Given the description of an element on the screen output the (x, y) to click on. 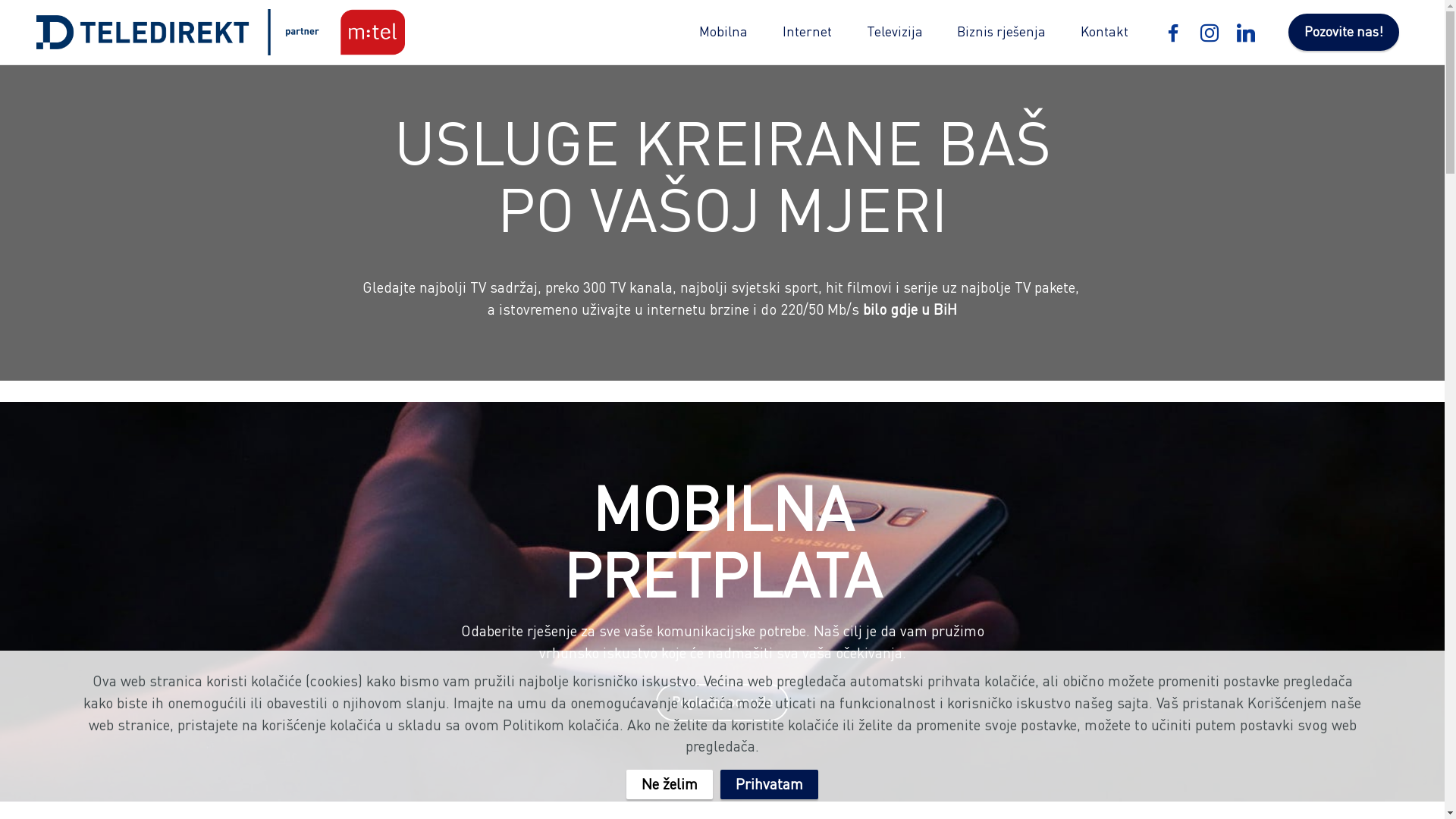
Kontakt Element type: text (1104, 31)
Mobilna Element type: text (723, 31)
Pogledaj ponude Element type: text (721, 702)
Televizija Element type: text (894, 31)
Internet Element type: text (807, 31)
Pozovite nas! Element type: text (1343, 32)
Prihvatam Element type: text (769, 784)
